Given the description of an element on the screen output the (x, y) to click on. 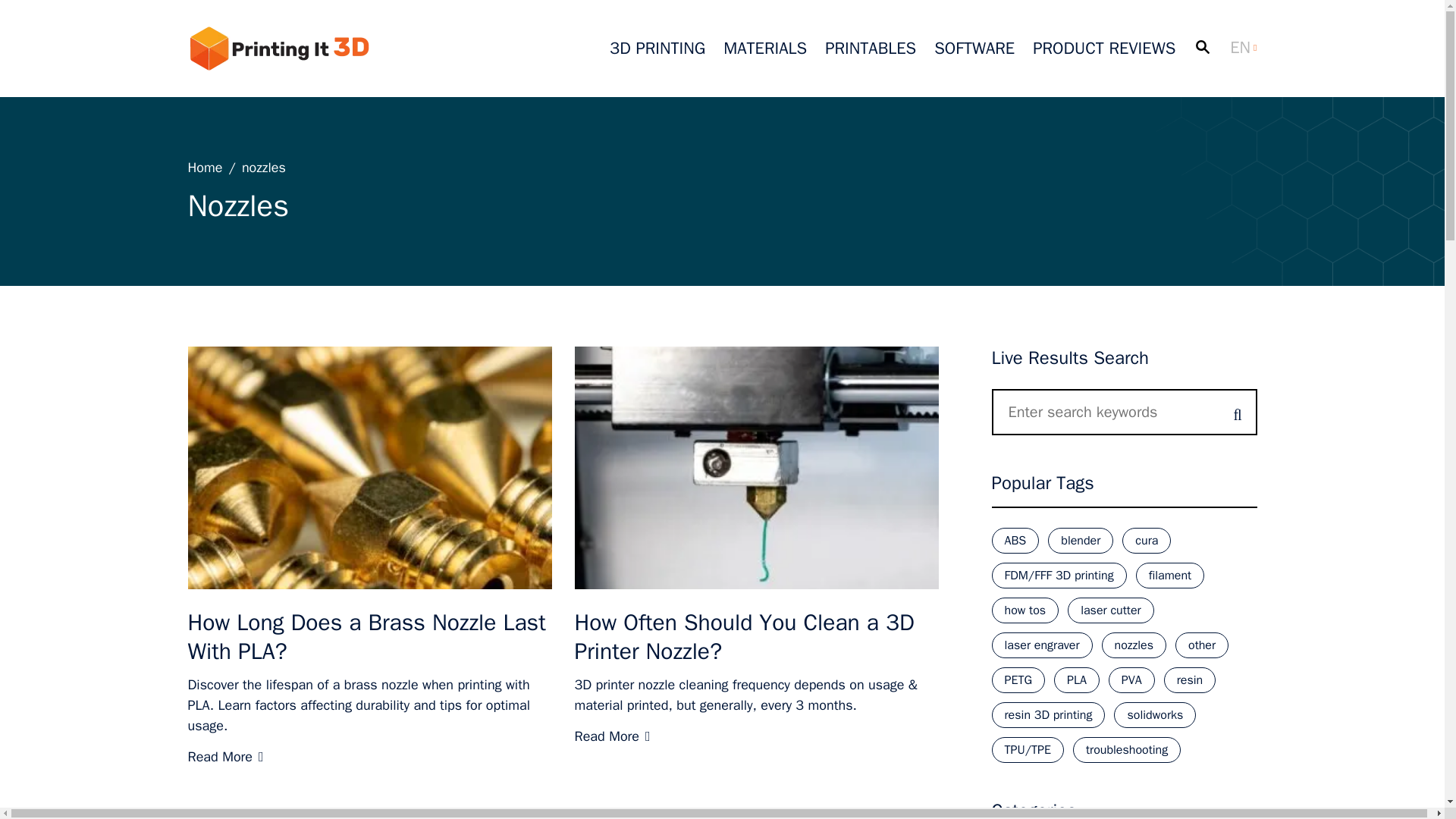
SOFTWARE (974, 48)
MATERIALS (764, 48)
PRODUCT REVIEWS (1103, 48)
Printing It 3D (278, 48)
PRINTABLES (870, 48)
Search for: (1124, 411)
3D PRINTING (657, 48)
